Given the description of an element on the screen output the (x, y) to click on. 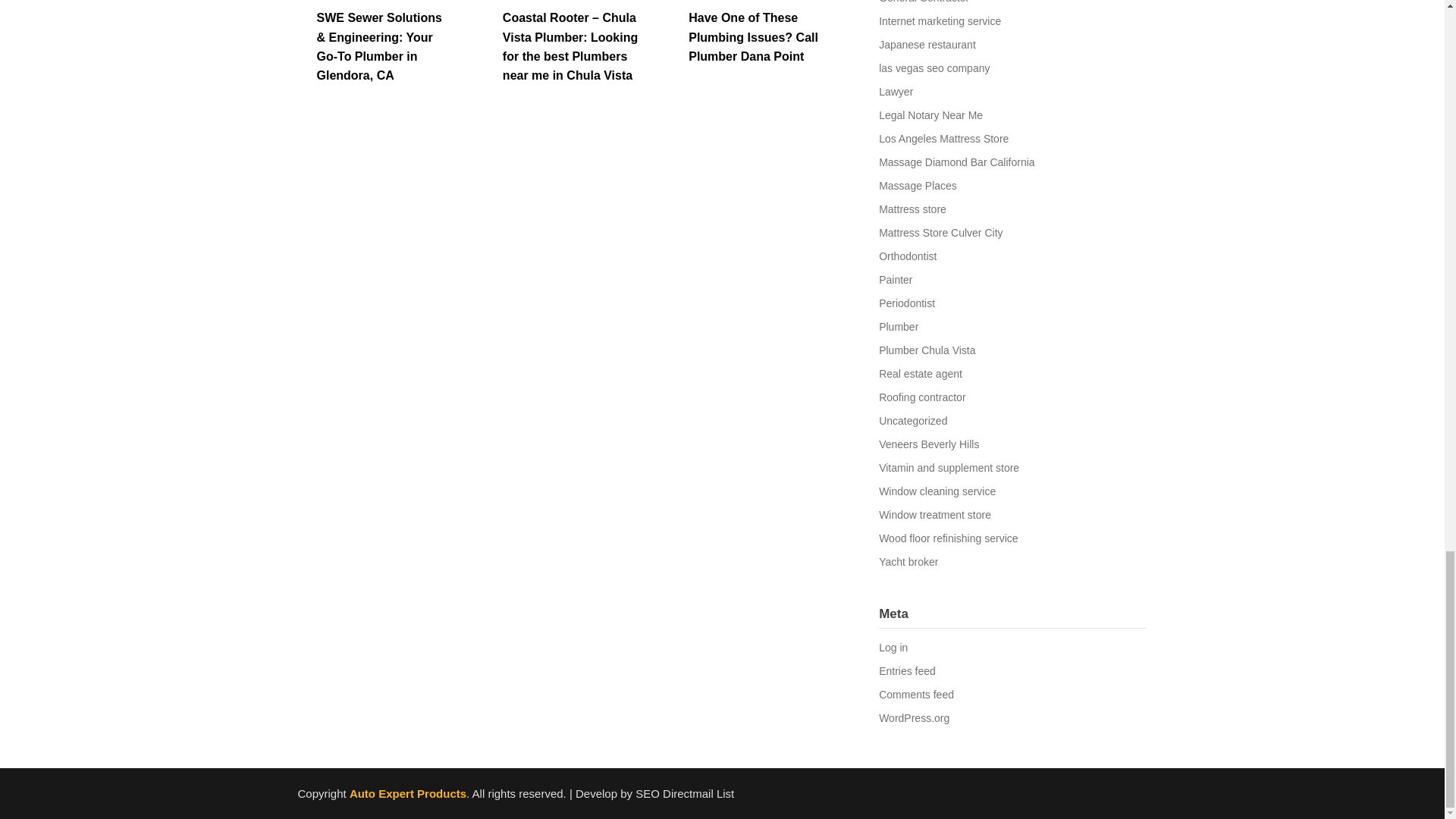
Have One of These Plumbing Issues? Call Plumber Dana Point (753, 36)
